Given the description of an element on the screen output the (x, y) to click on. 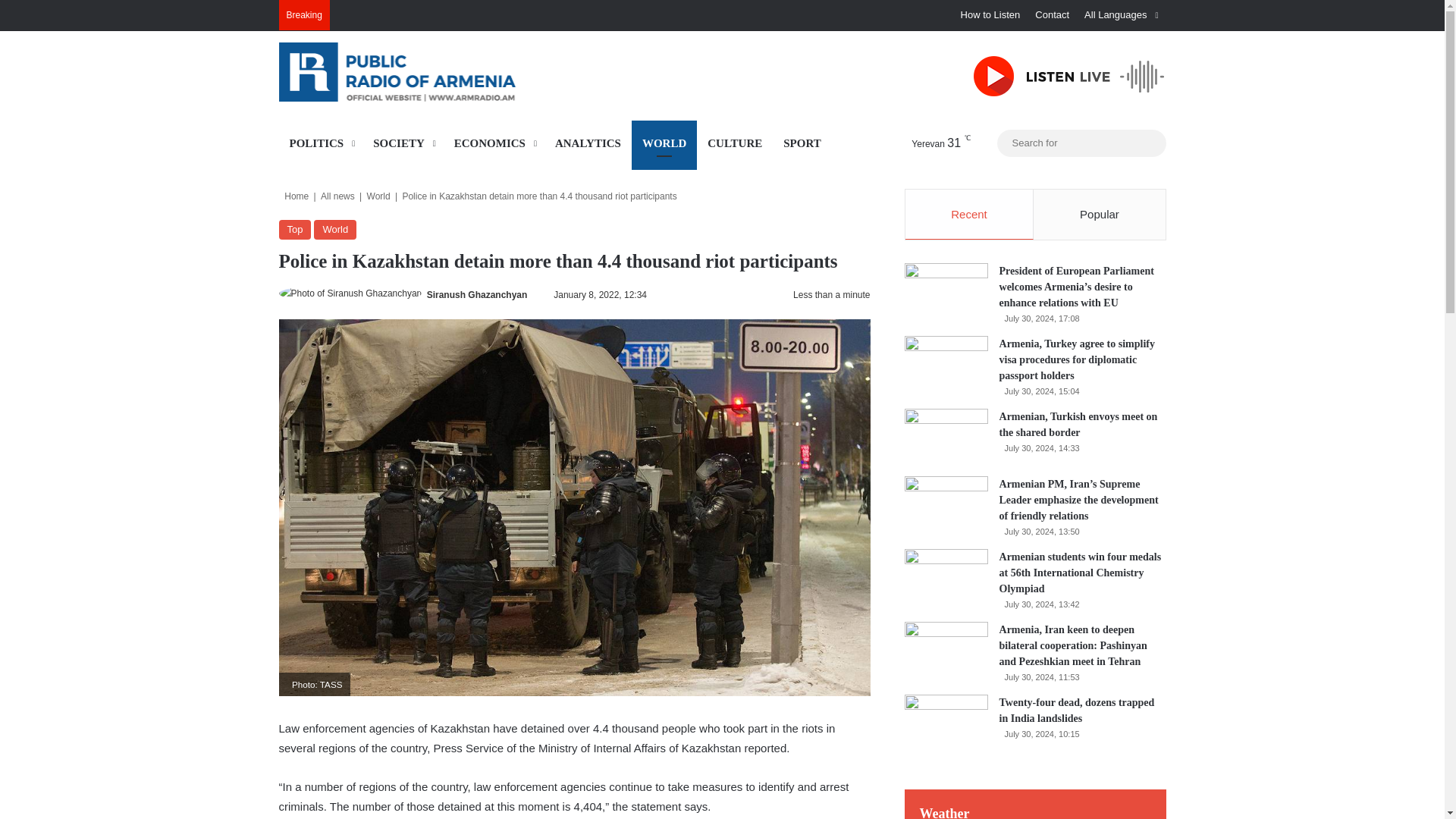
Search for (1080, 142)
Contact (1052, 15)
ANALYTICS (587, 143)
SPORT (802, 143)
SOCIETY (403, 143)
Search for (1150, 143)
All news (337, 195)
Clear Sky (926, 142)
How to Listen (990, 15)
World (378, 195)
CULTURE (735, 143)
Siranush Ghazanchyan (476, 294)
POLITICS (320, 143)
Public Radio of Armenia (419, 71)
Home (293, 195)
